Given the description of an element on the screen output the (x, y) to click on. 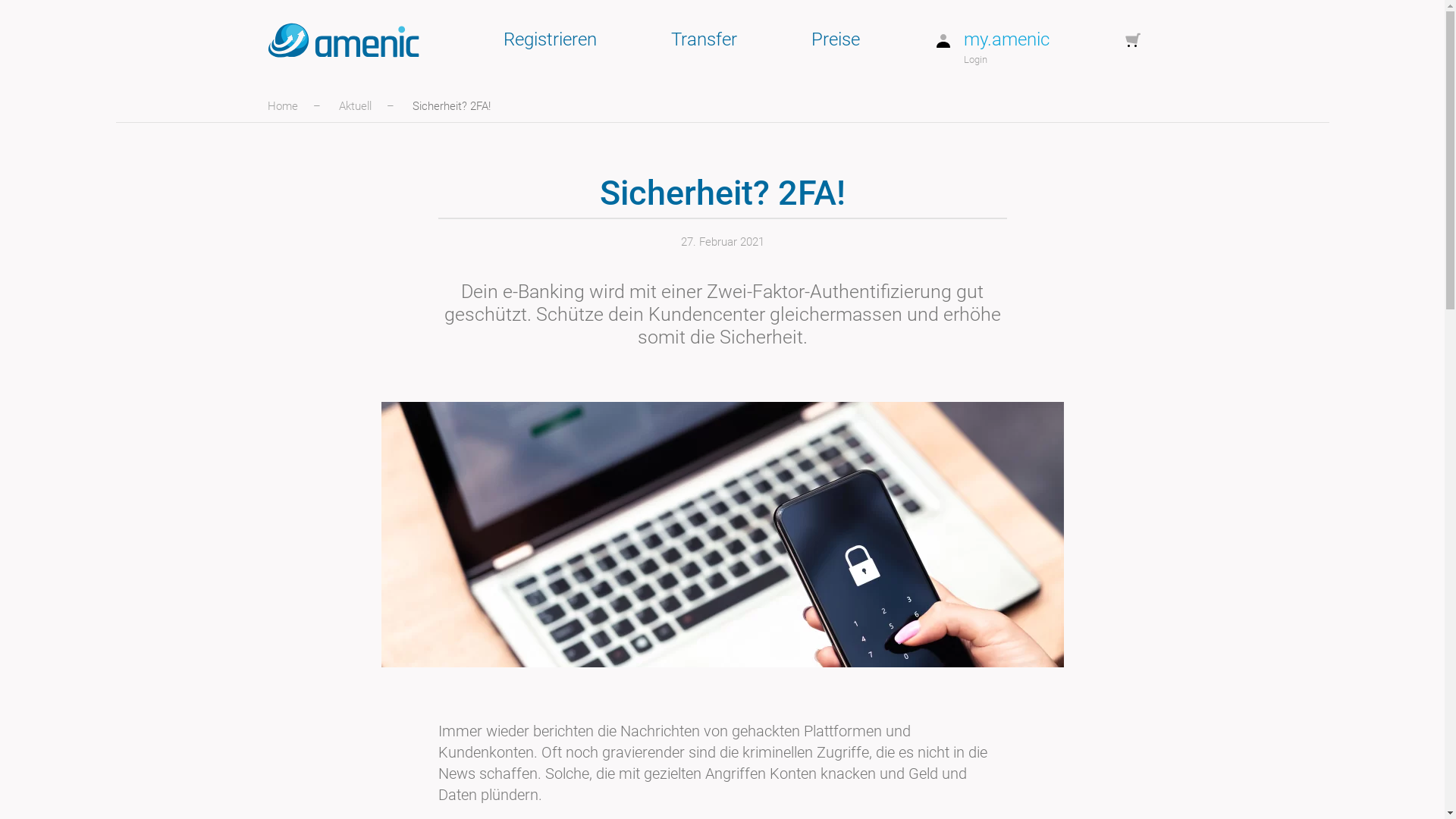
Registrieren Element type: text (549, 40)
  Element type: text (1140, 40)
Home Element type: text (281, 105)
Preise Element type: text (834, 40)
Transfer Element type: text (704, 40)
Aktuell Element type: text (354, 105)
my.amenic
Login Element type: text (990, 40)
